Given the description of an element on the screen output the (x, y) to click on. 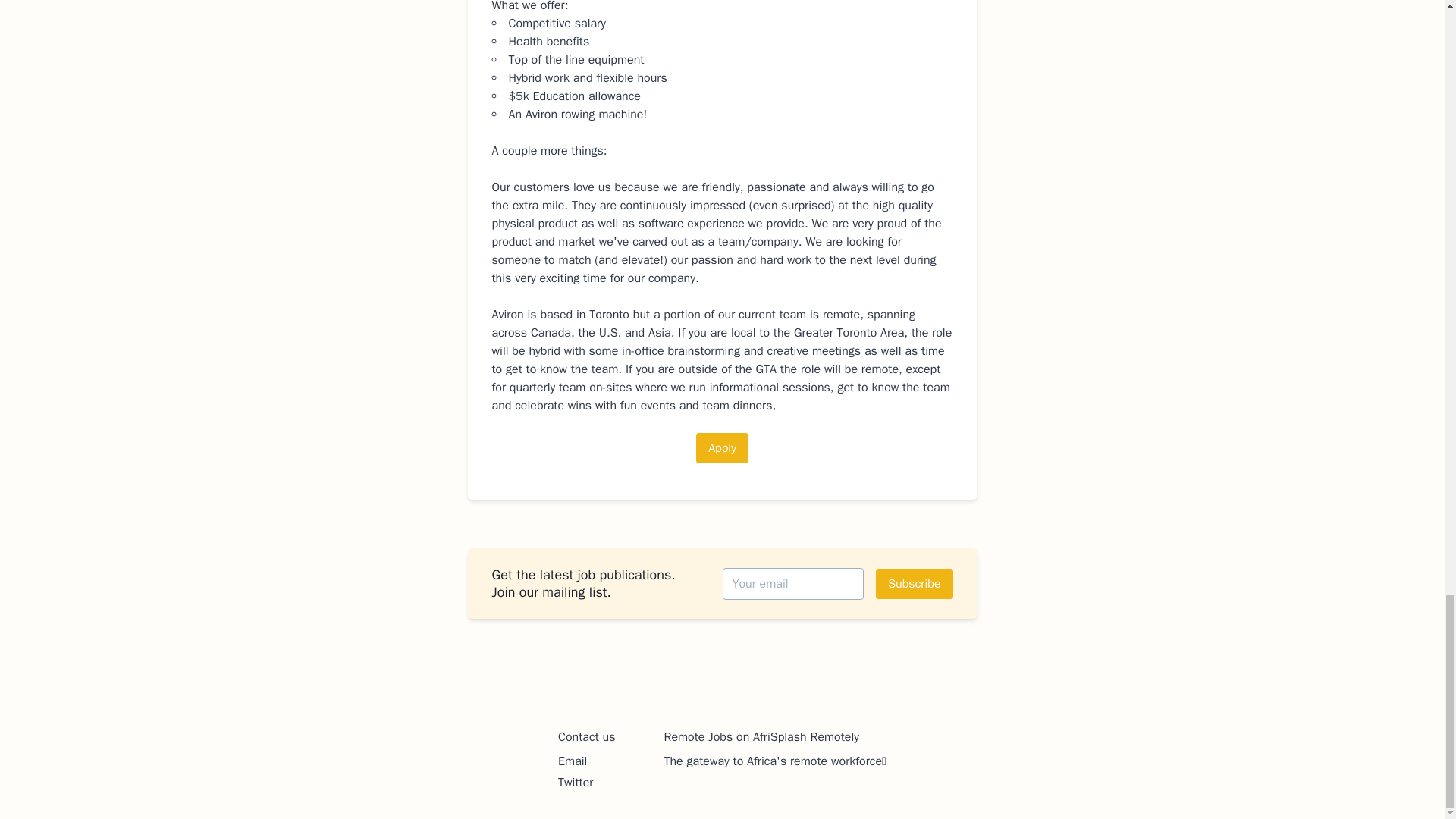
Email (571, 761)
Twitter (574, 782)
Remote Jobs on AfriSplash Remotely (761, 737)
Subscribe (914, 583)
Apply (721, 448)
